Given the description of an element on the screen output the (x, y) to click on. 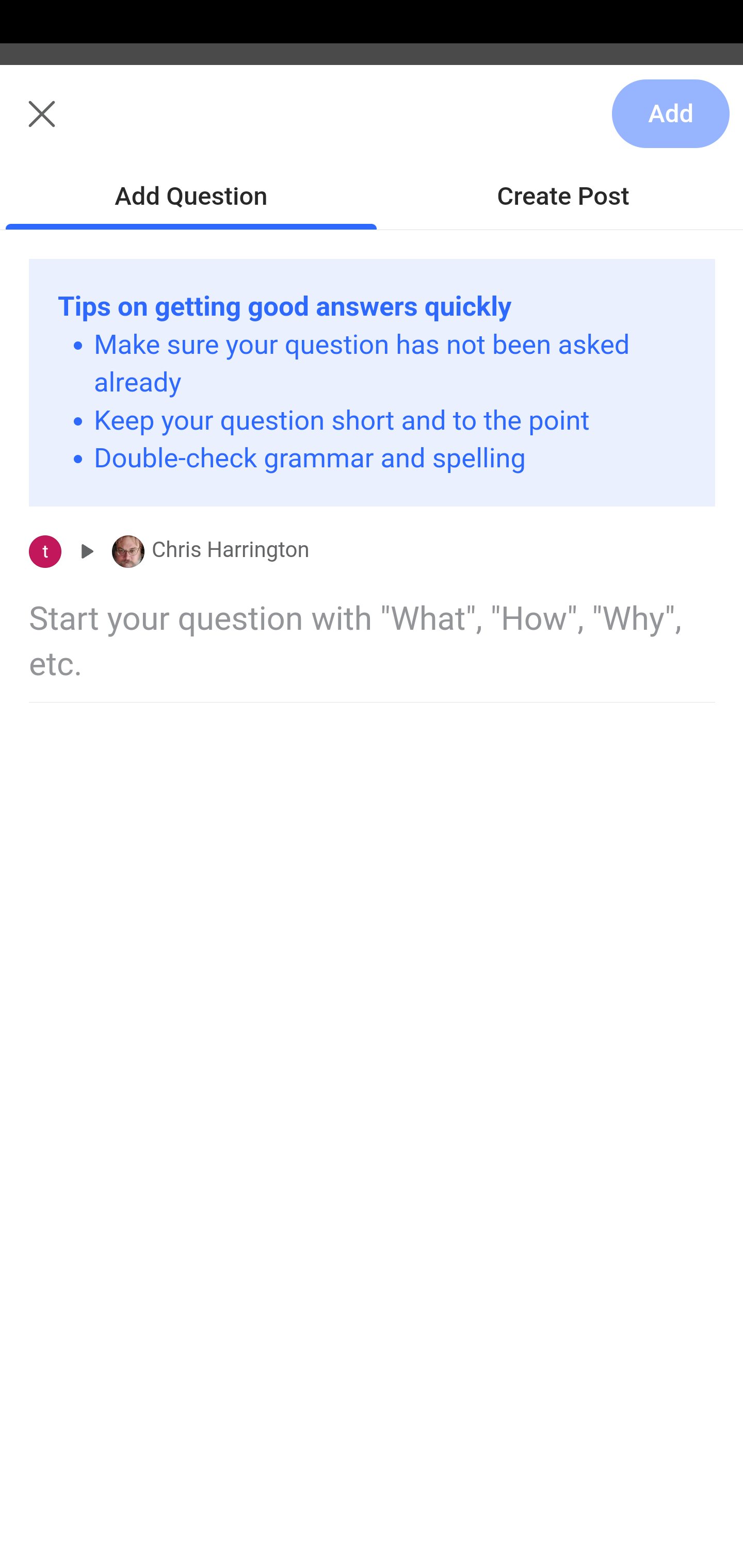
Back Chris Harrington (371, 125)
Back (30, 125)
